Given the description of an element on the screen output the (x, y) to click on. 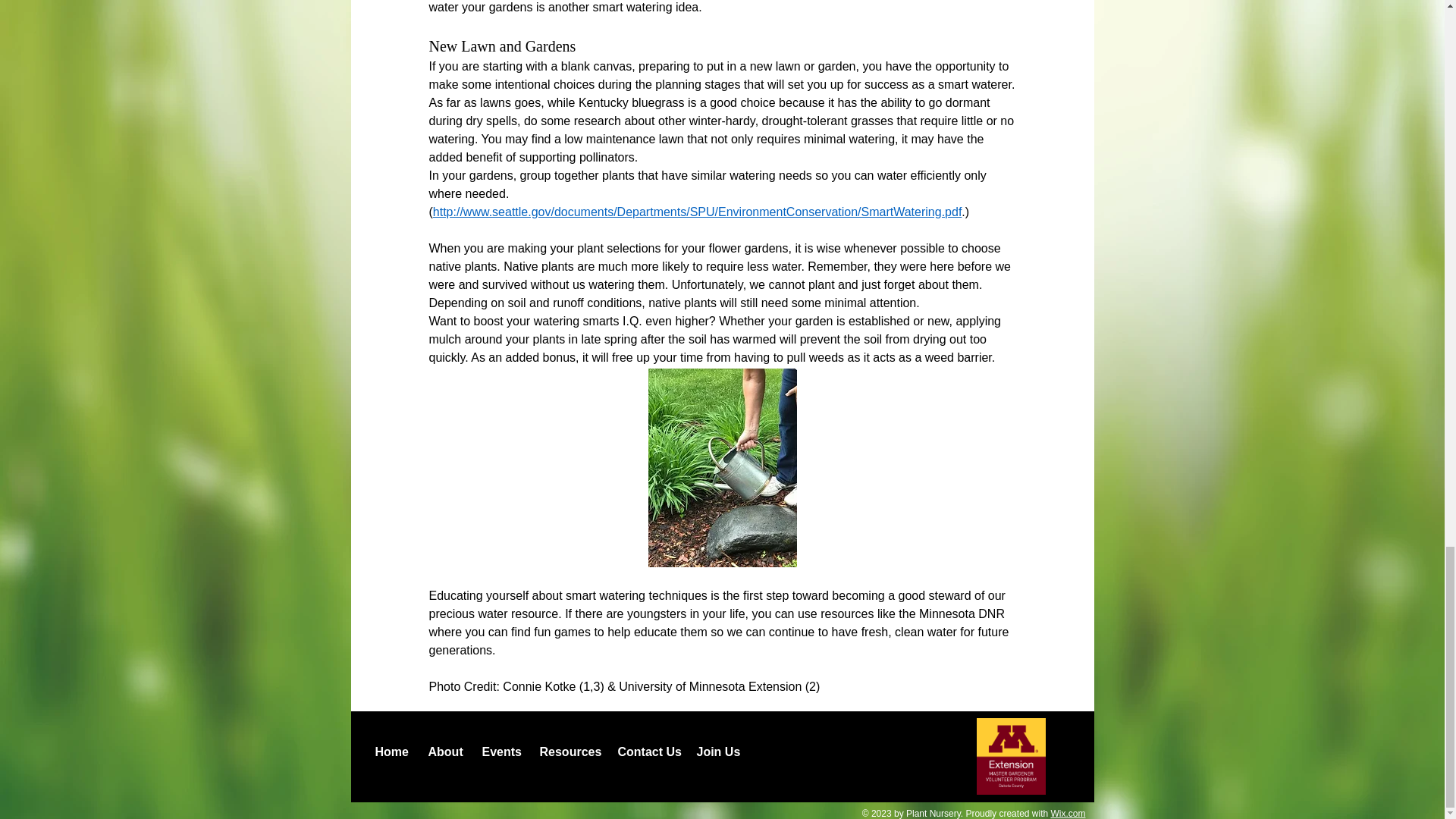
Events (498, 751)
About (443, 751)
Resources (566, 751)
Home (390, 751)
